Given the description of an element on the screen output the (x, y) to click on. 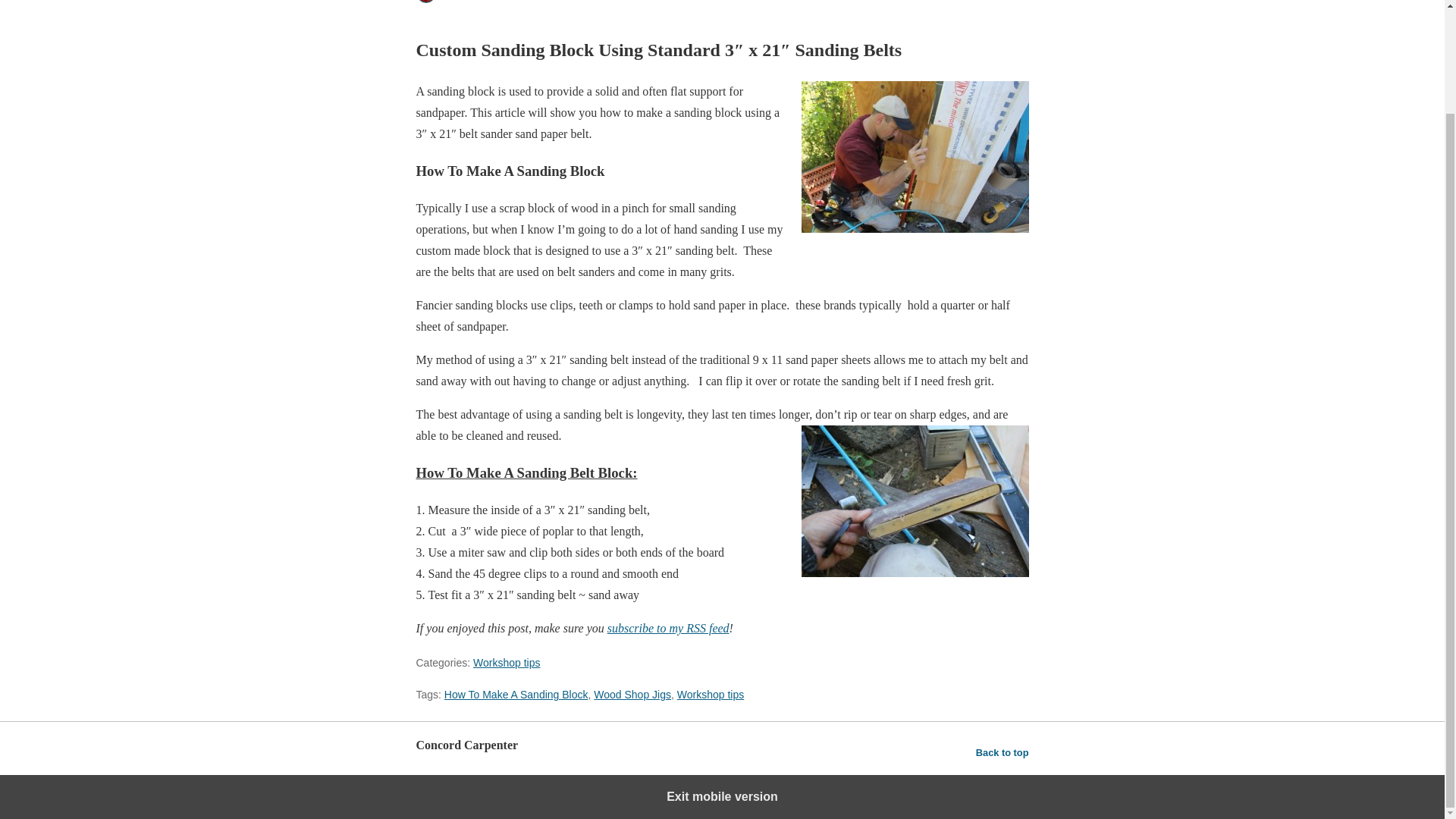
subscribe to my RSS feed (668, 627)
Workshop tips (710, 694)
Wood Shop Jigs (632, 694)
sanding block (913, 156)
Workshop tips (506, 662)
How To Make A Sanding Block (516, 694)
sanding block (913, 501)
Back to top (1002, 752)
